Given the description of an element on the screen output the (x, y) to click on. 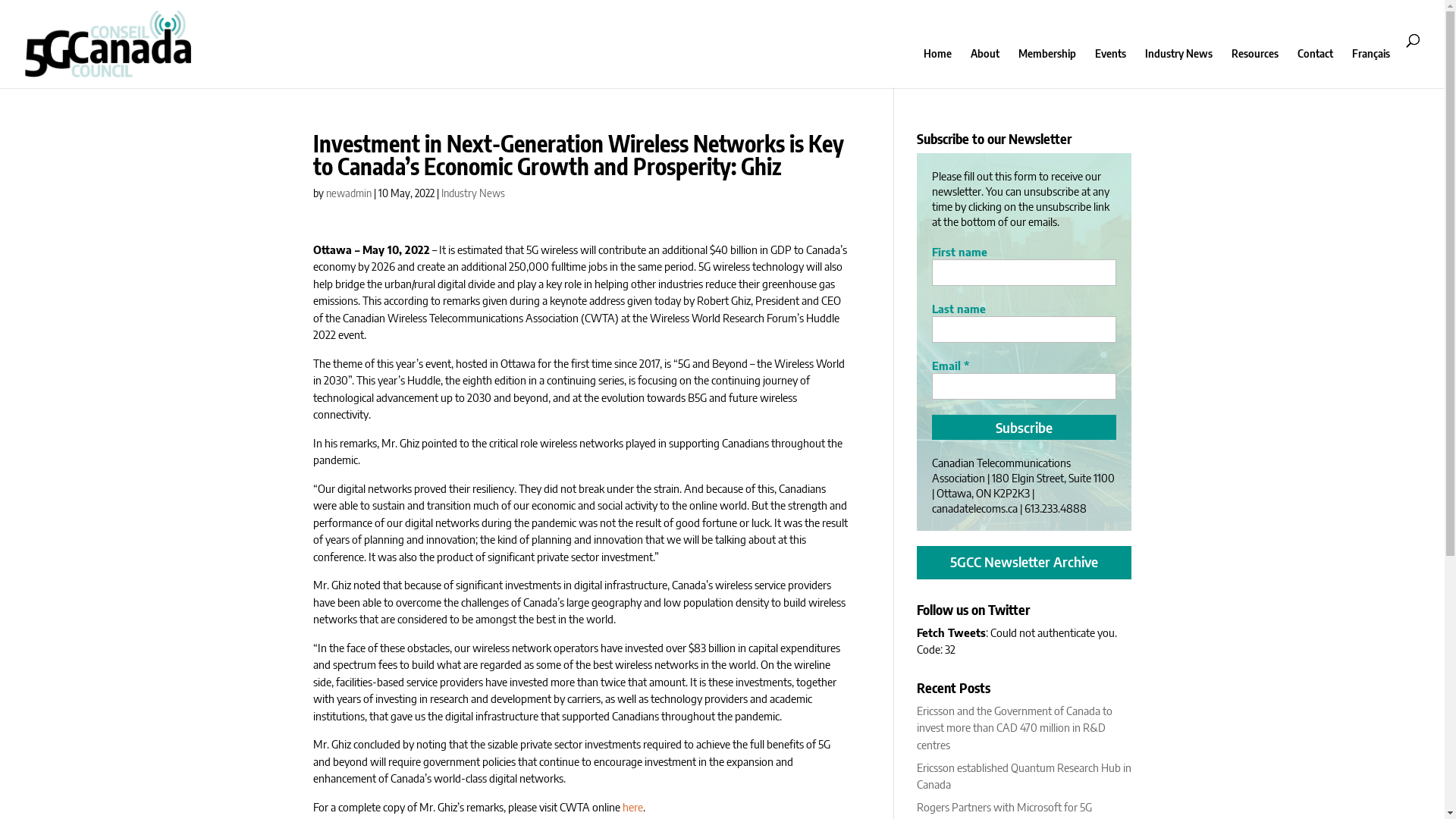
here Element type: text (631, 805)
Home Element type: text (937, 67)
5GCC Newsletter Archive Element type: text (1024, 561)
Ericsson established Quantum Research Hub in Canada Element type: text (1023, 774)
About Element type: text (984, 67)
newadmin Element type: text (348, 192)
Events Element type: text (1110, 67)
Membership Element type: text (1047, 67)
Email Element type: hover (1023, 386)
Contact Element type: text (1315, 67)
Industry News Element type: text (473, 192)
Last name Element type: hover (1023, 329)
Resources Element type: text (1254, 67)
First name Element type: hover (1023, 272)
Subscribe Element type: text (1023, 426)
Industry News Element type: text (1178, 67)
